Given the description of an element on the screen output the (x, y) to click on. 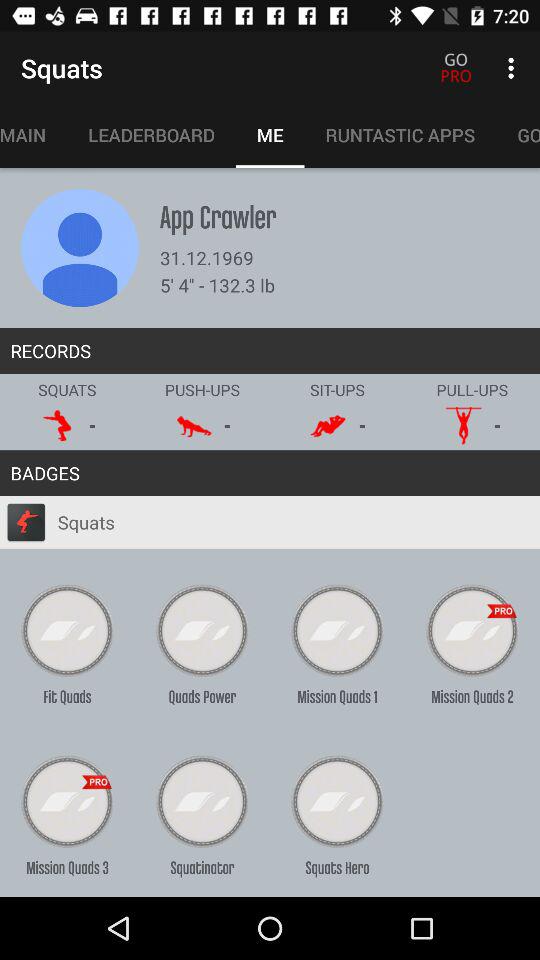
view profile (80, 248)
